Given the description of an element on the screen output the (x, y) to click on. 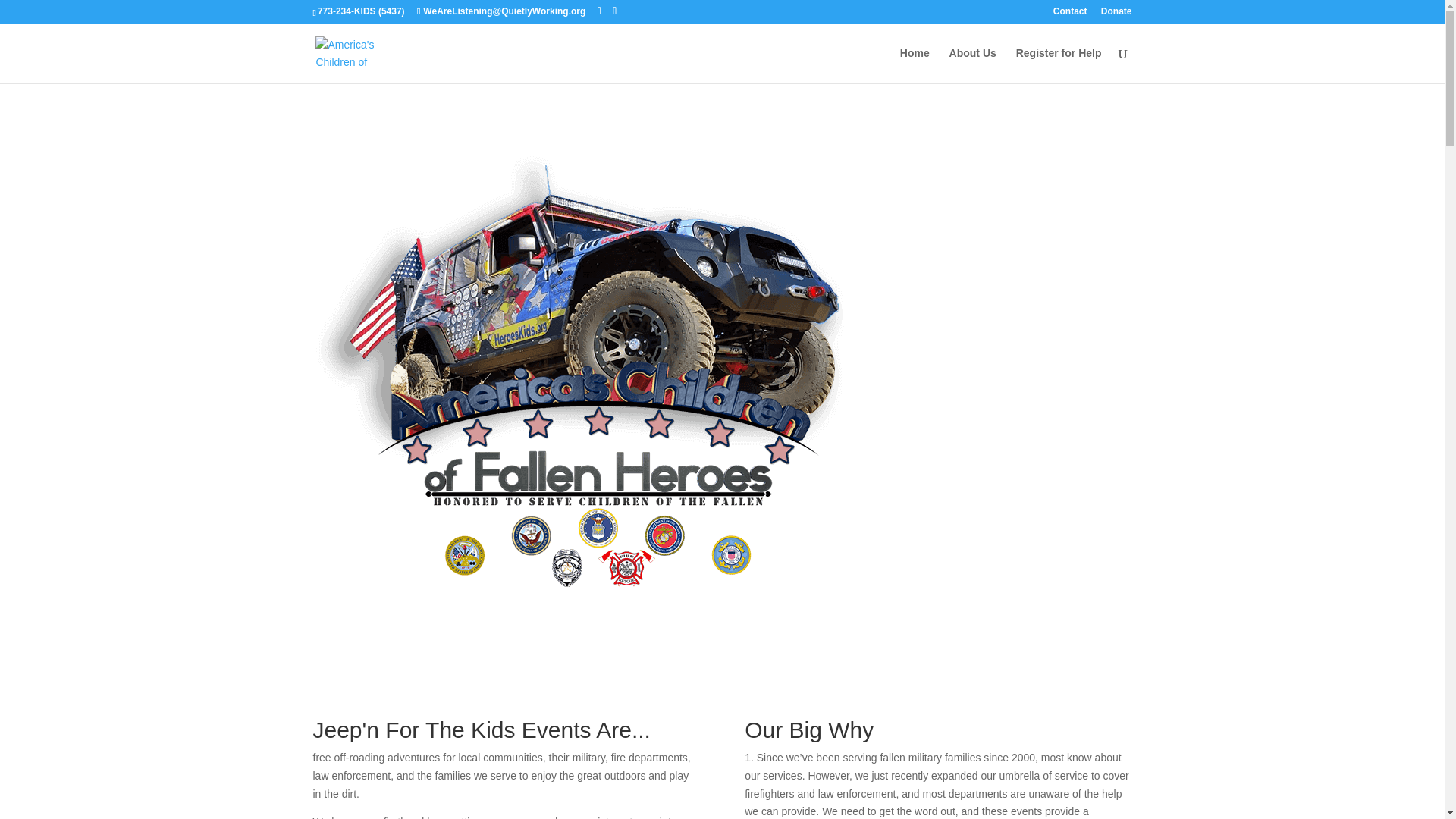
Donate (1116, 14)
About Us (972, 65)
Register for Help (1059, 65)
Contact (1069, 14)
